Given the description of an element on the screen output the (x, y) to click on. 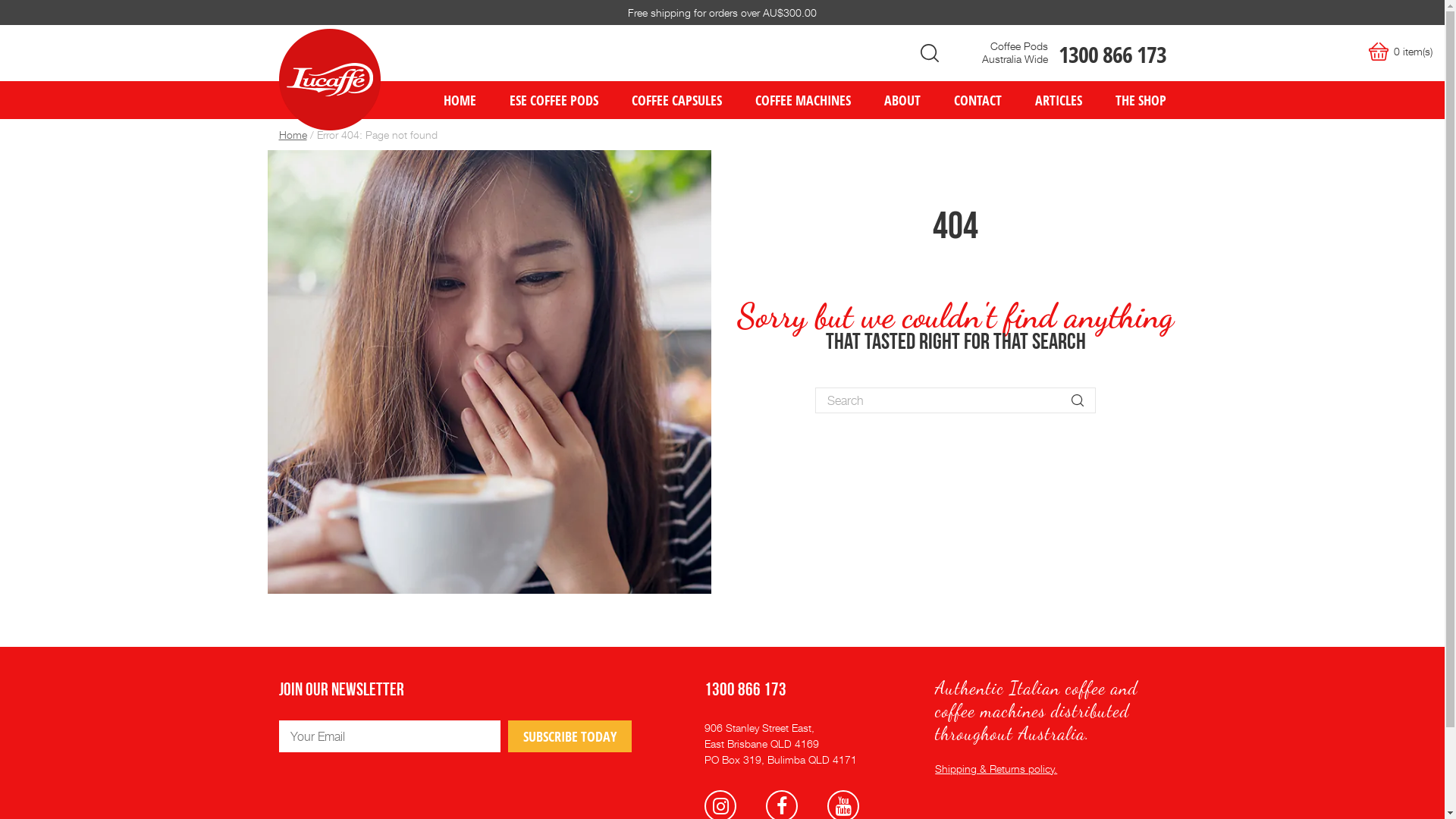
THE SHOP Element type: text (1131, 100)
ARTICLES Element type: text (1057, 100)
Home Element type: text (293, 134)
ESE COFFEE PODS Element type: text (553, 100)
1300 866 173 Element type: text (745, 690)
COFFEE CAPSULES Element type: text (675, 100)
1300 866 173 Element type: text (1112, 53)
0 Element type: text (1406, 51)
CONTACT Element type: text (977, 100)
HOME Element type: text (459, 100)
Shipping & Returns policy. Element type: text (996, 768)
COFFEE MACHINES Element type: text (802, 100)
Subscribe Today Element type: text (569, 736)
ABOUT Element type: text (902, 100)
Lucaffe Australia Element type: hover (329, 79)
